Given the description of an element on the screen output the (x, y) to click on. 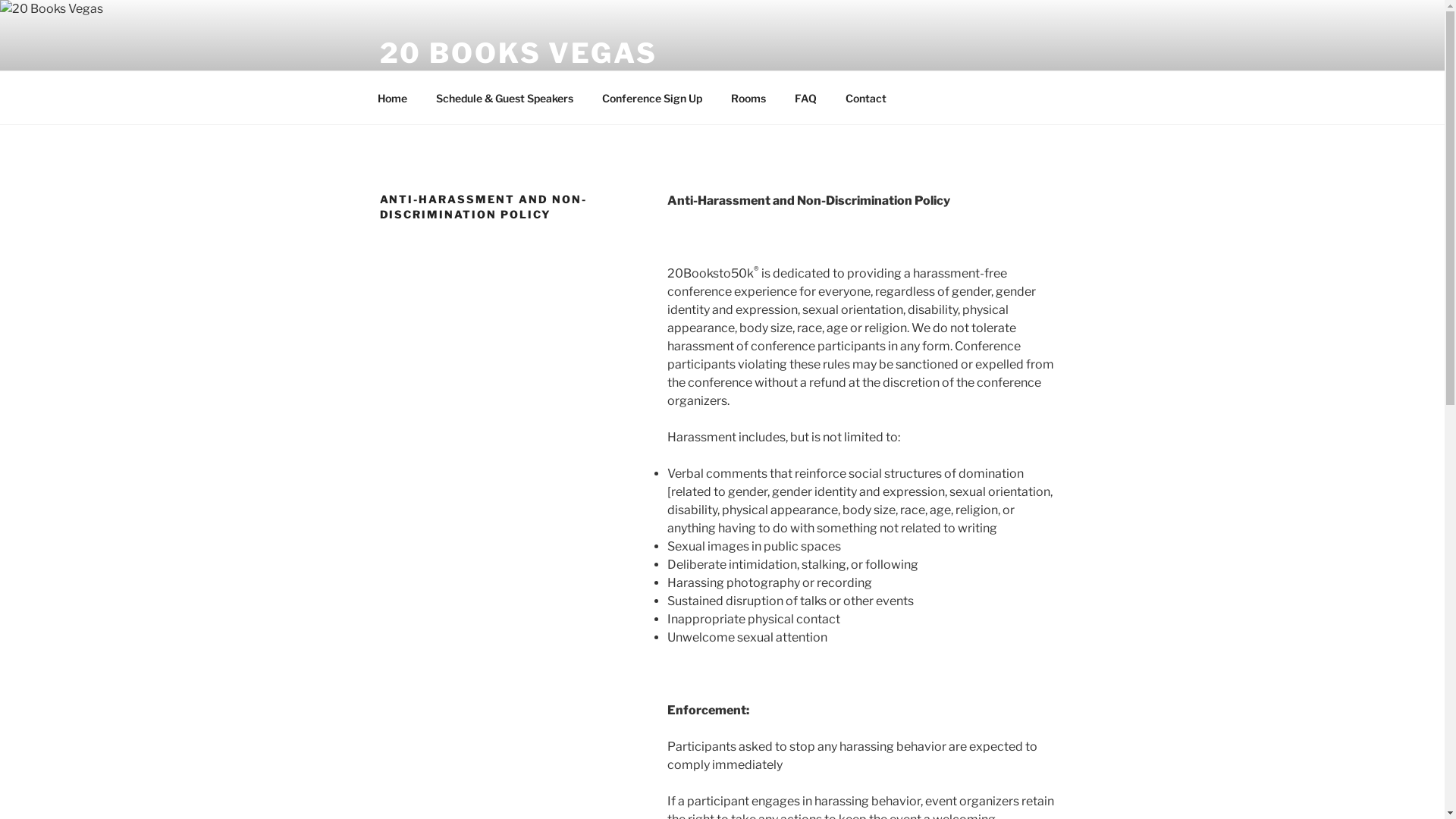
Schedule & Guest Speakers Element type: text (504, 97)
Conference Sign Up Element type: text (651, 97)
Contact Element type: text (866, 97)
Rooms Element type: text (747, 97)
Skip to content Element type: text (0, 0)
FAQ Element type: text (805, 97)
20 BOOKS VEGAS Element type: text (517, 52)
Home Element type: text (392, 97)
